Given the description of an element on the screen output the (x, y) to click on. 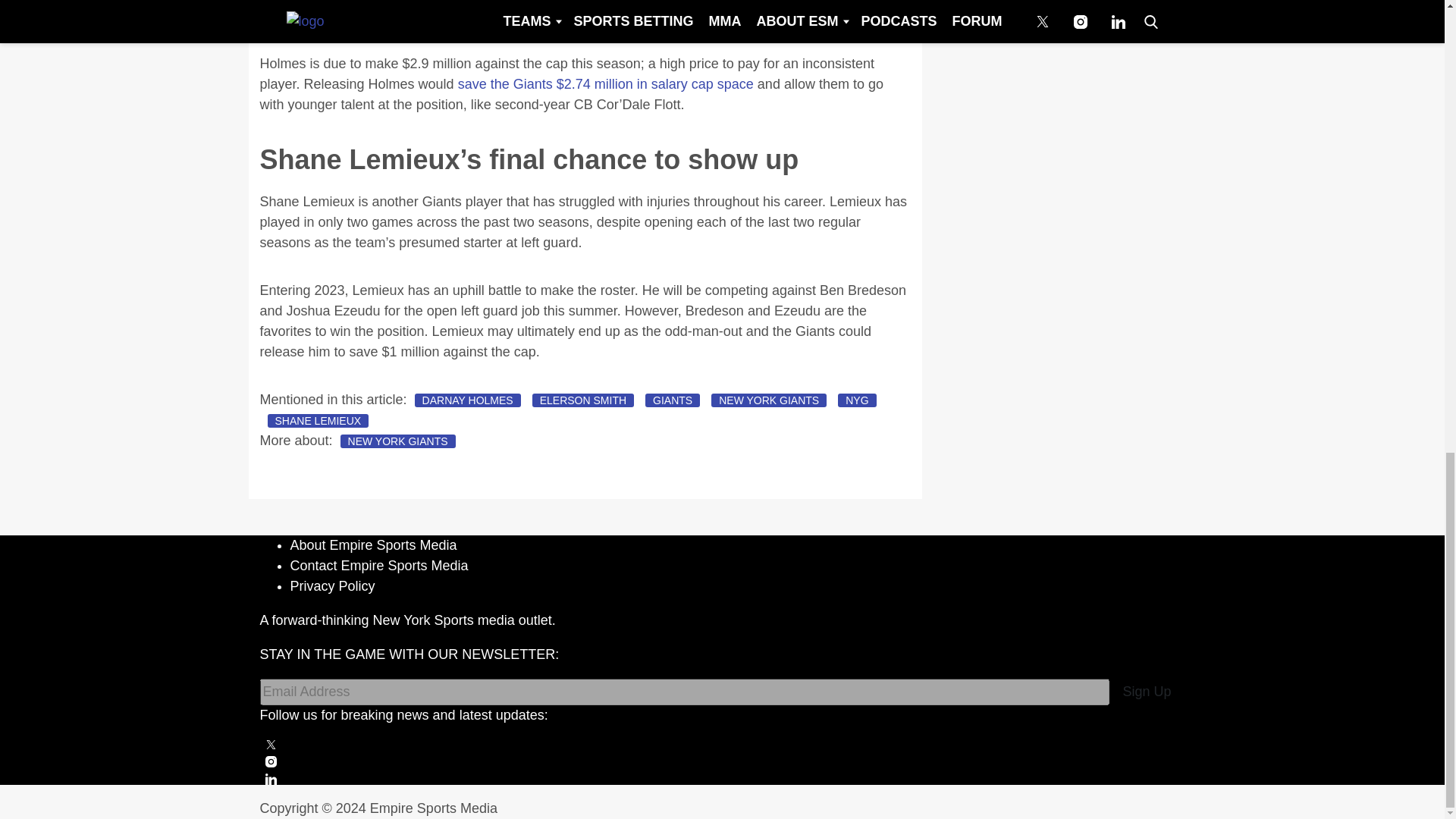
DARNAY HOLMES (467, 400)
SHANE LEMIEUX (317, 420)
Follow us on Instagram (722, 761)
NEW YORK GIANTS (397, 440)
NYG (857, 400)
NEW YORK GIANTS (769, 400)
Follow us on Twitter (722, 745)
ELERSON SMITH (582, 400)
GIANTS (672, 400)
Connect with us on LinkedIn (722, 778)
